Given the description of an element on the screen output the (x, y) to click on. 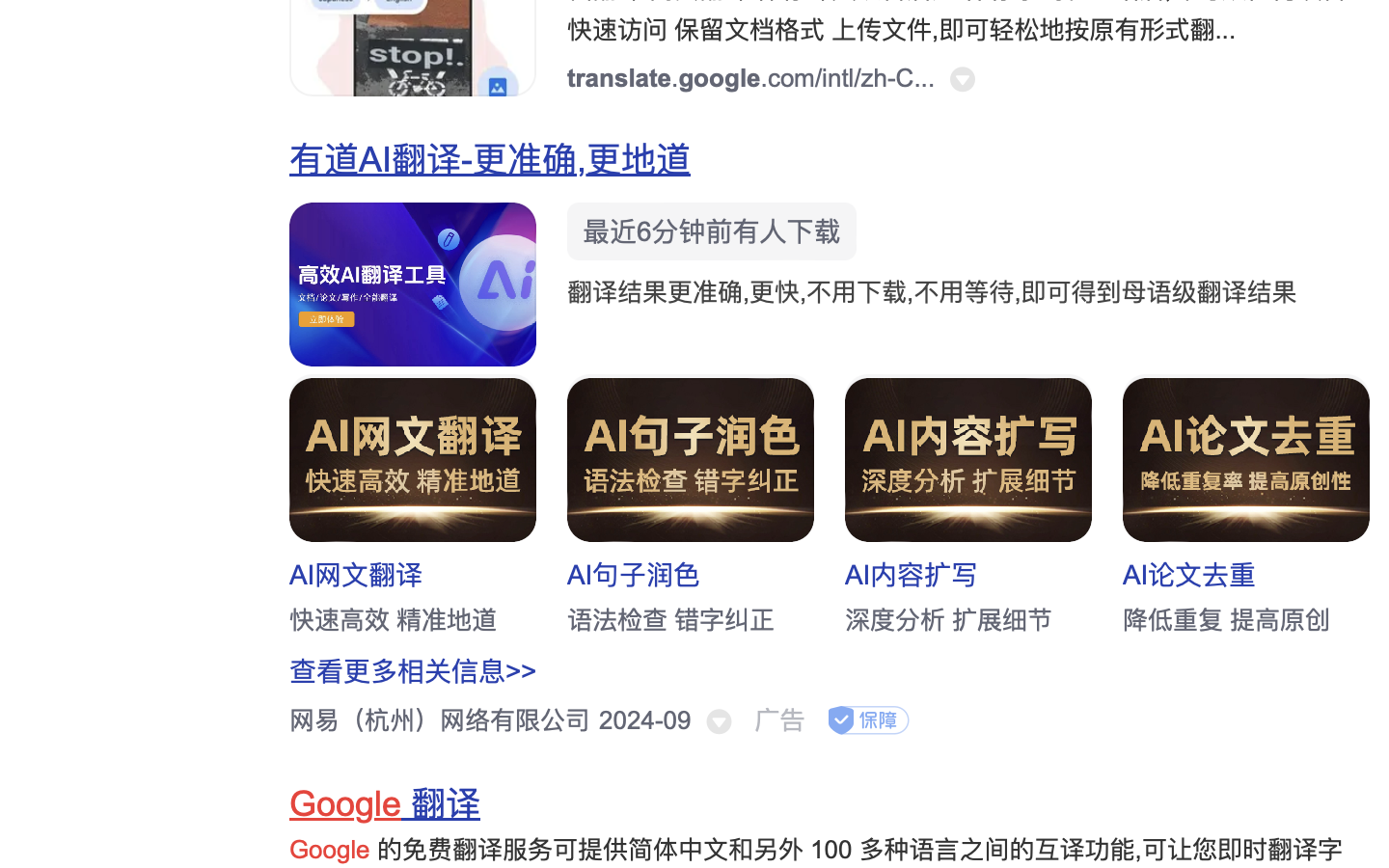
查看更多相关信息>> Element type: AXStaticText (413, 670)
语法检查 错字纠正 Element type: AXStaticText (671, 619)
深度分析 扩展细节 Element type: AXStaticText (948, 619)
AI网文翻译 Element type: AXStaticText (356, 574)
AI论文去重 Element type: AXStaticText (1189, 574)
